Given the description of an element on the screen output the (x, y) to click on. 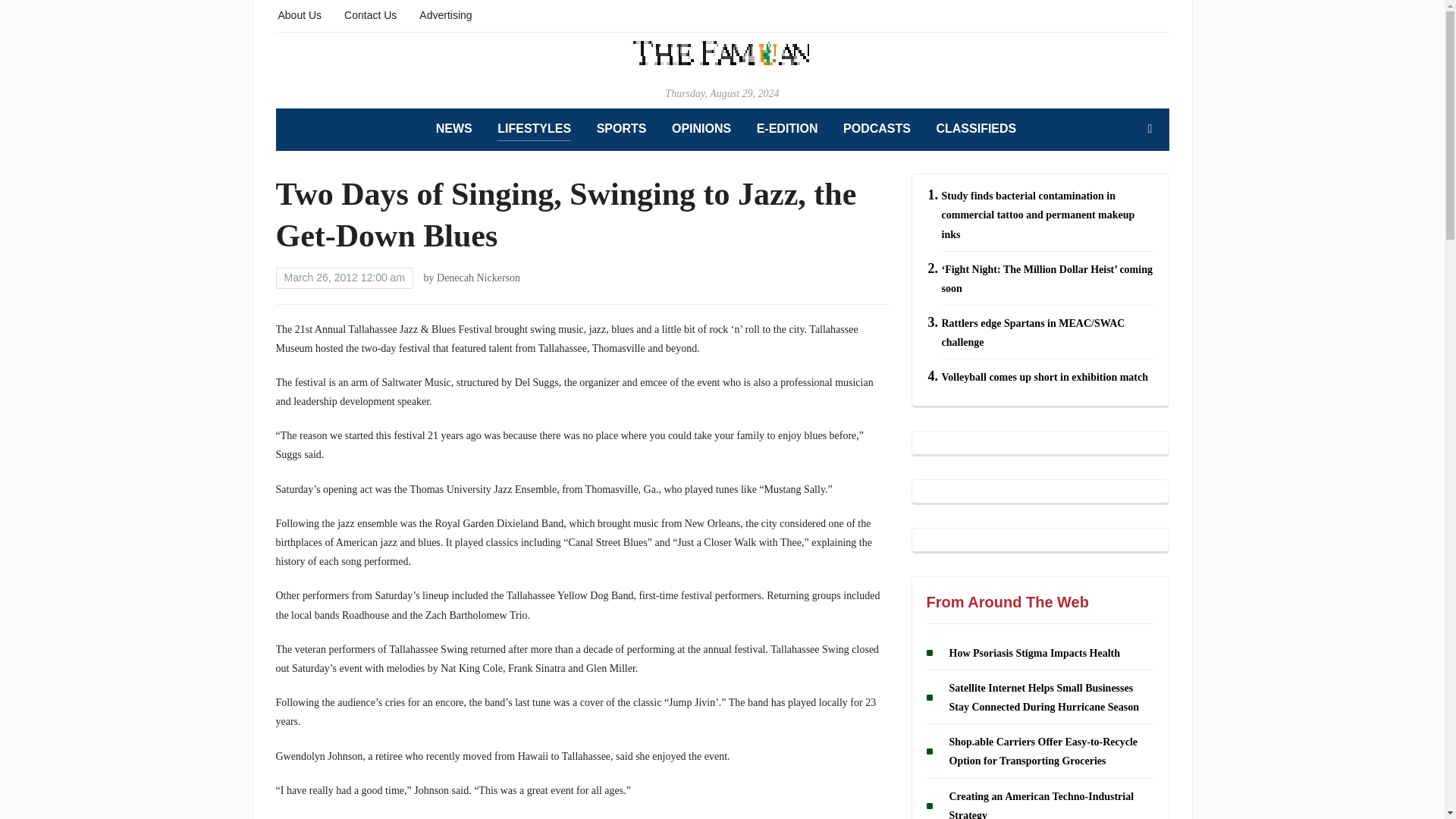
Search (1149, 128)
How Psoriasis Stigma Impacts Health (1035, 653)
Creating an American Techno-Industrial Strategy (1041, 805)
CLASSIFIEDS (976, 128)
PODCASTS (877, 128)
Creating an American Techno-Industrial Strategy (1041, 805)
